Given the description of an element on the screen output the (x, y) to click on. 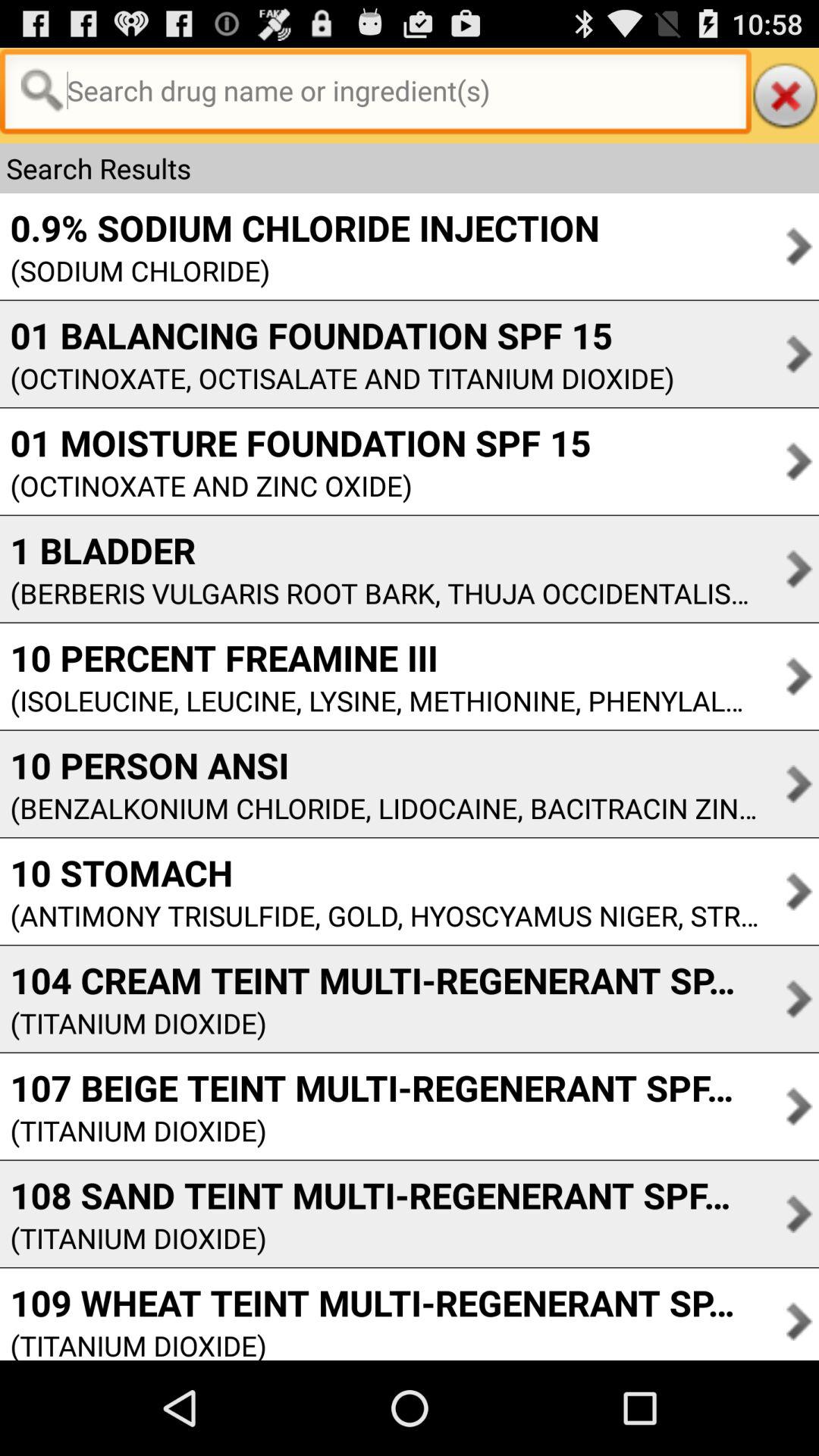
turn off the 107 beige teint (379, 1087)
